Given the description of an element on the screen output the (x, y) to click on. 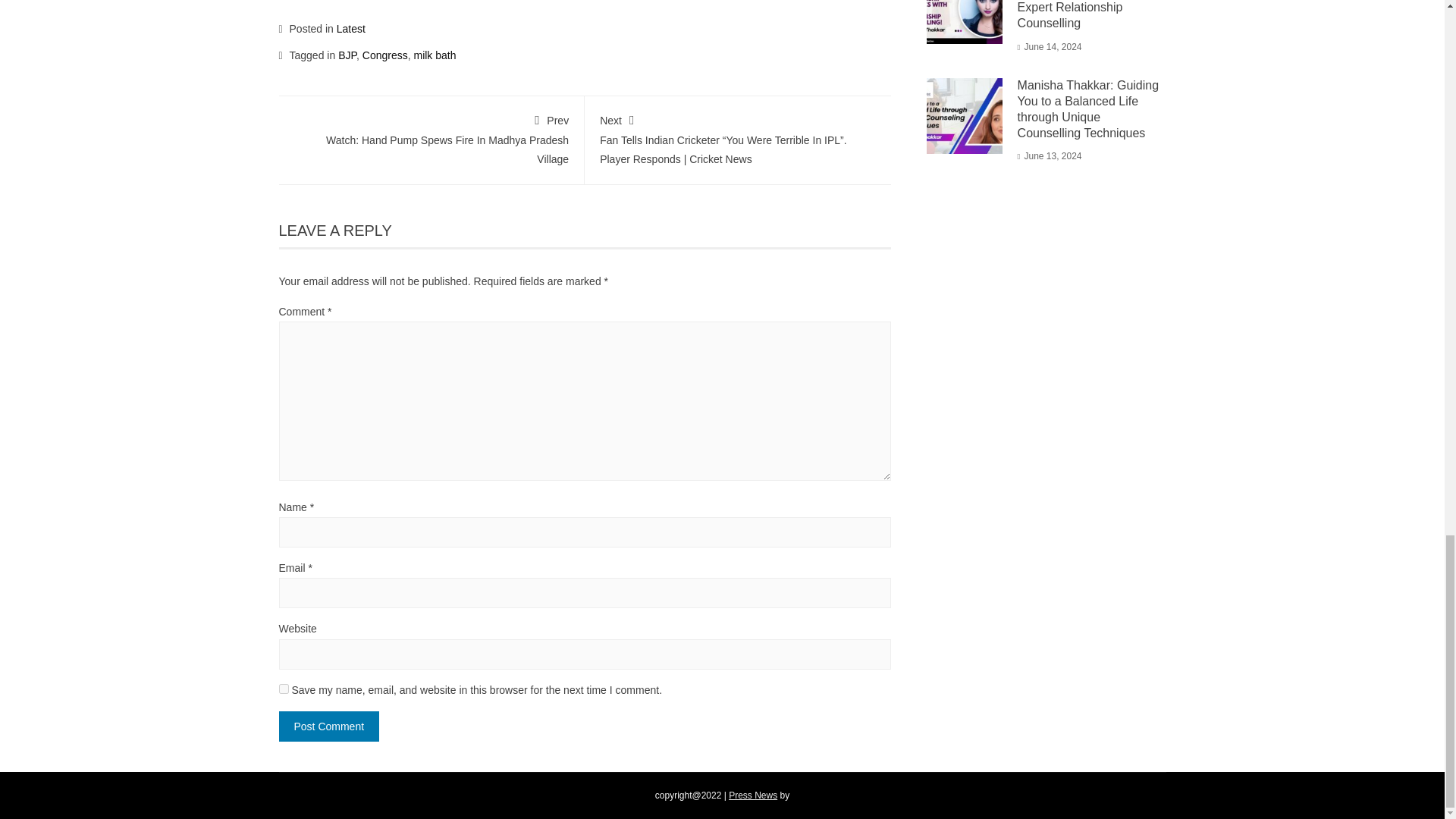
BJP (346, 55)
Post Comment (329, 726)
milk bath (434, 55)
Download Press News (753, 795)
Congress (384, 55)
Latest (350, 28)
Press News (431, 137)
Post Comment (753, 795)
yes (329, 726)
